Given the description of an element on the screen output the (x, y) to click on. 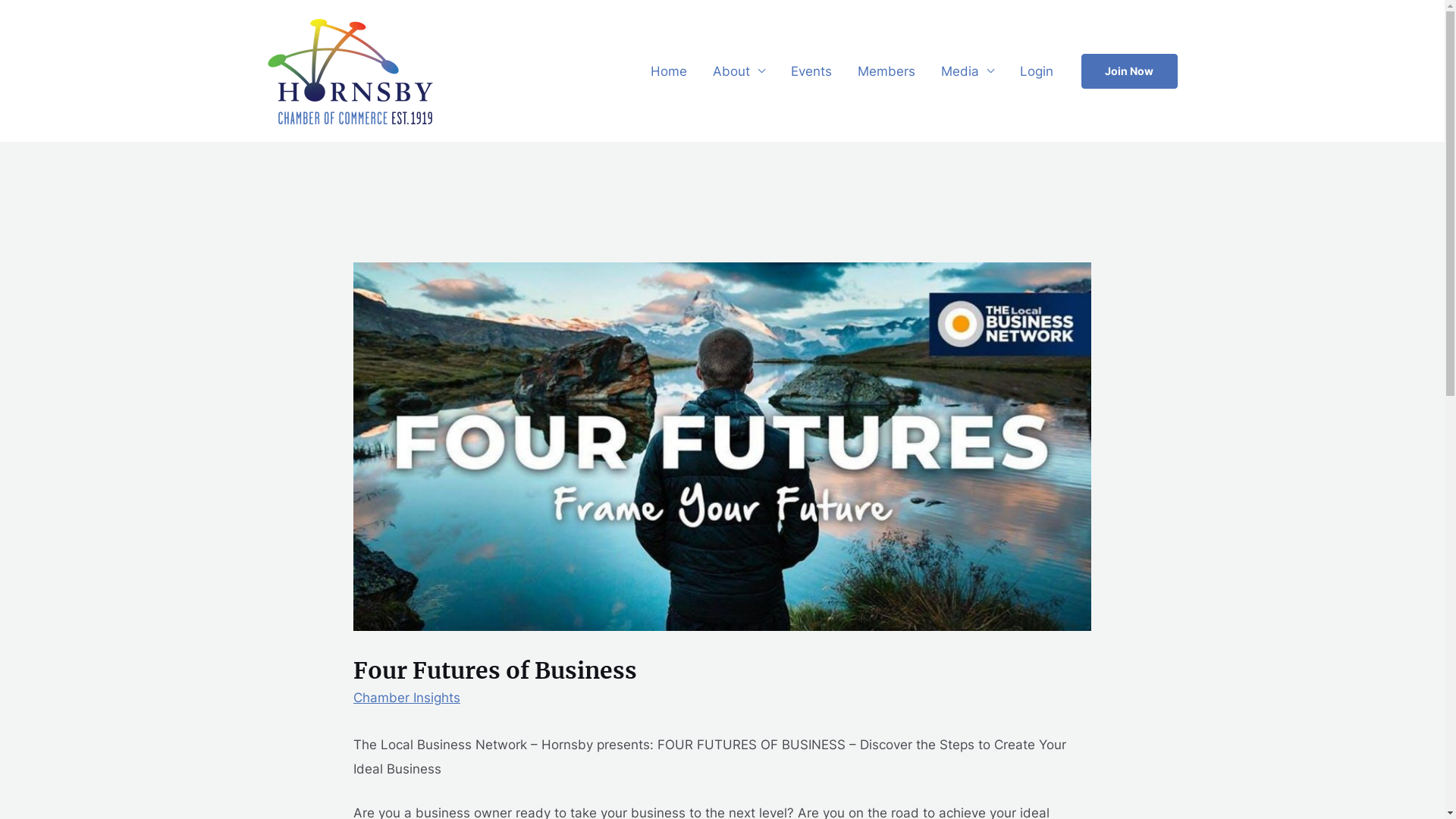
Media Element type: text (967, 70)
Members Element type: text (886, 70)
Home Element type: text (668, 70)
Join Now Element type: text (1129, 70)
Events Element type: text (811, 70)
Chamber Insights Element type: text (406, 697)
About Element type: text (738, 70)
Login Element type: text (1036, 70)
